Given the description of an element on the screen output the (x, y) to click on. 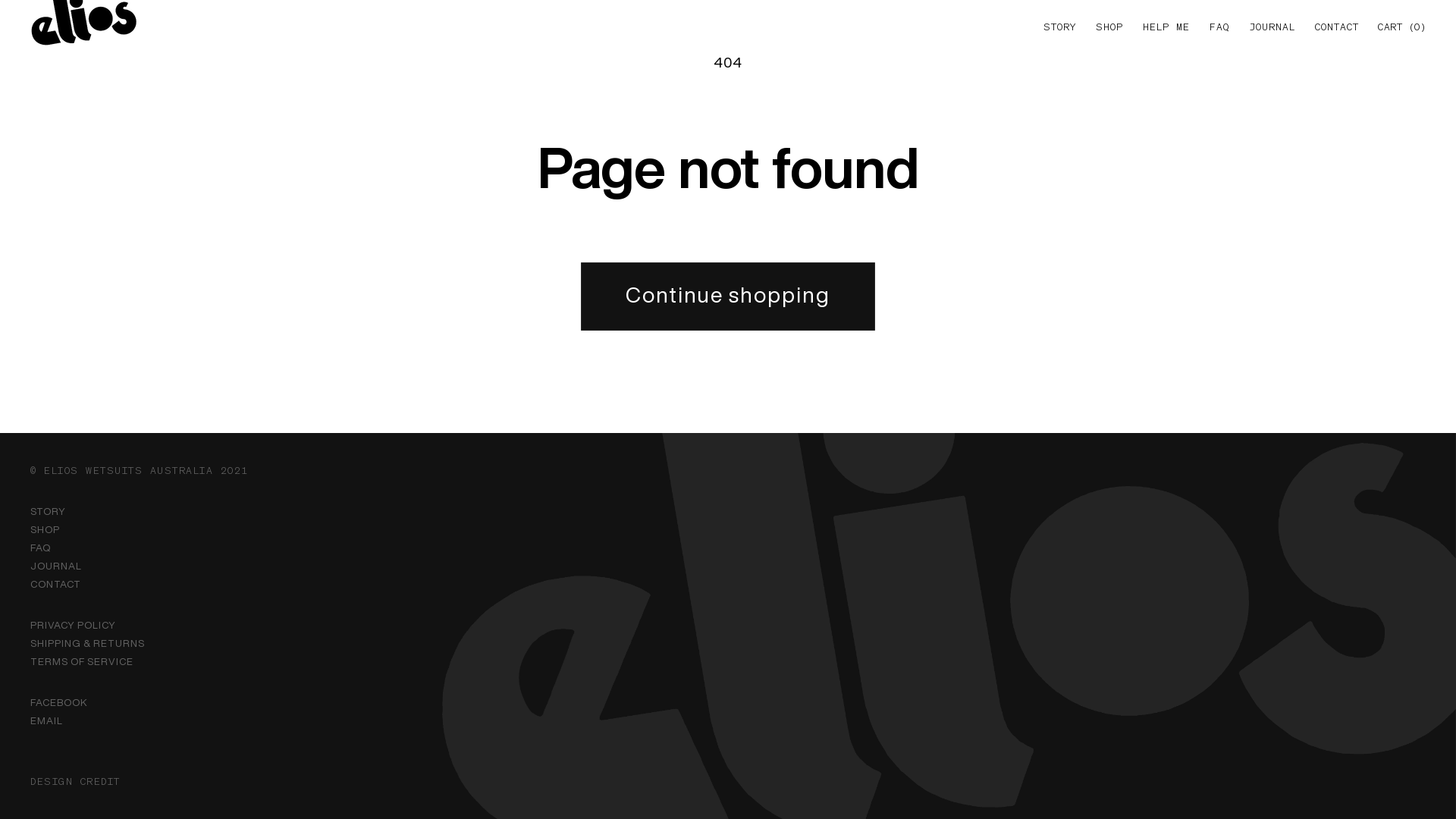
FACEBOOK Element type: text (58, 702)
CONTACT Element type: text (55, 584)
CART (0) Element type: text (1396, 26)
SHOP Element type: text (1109, 26)
FAQ Element type: text (1219, 26)
JOURNAL Element type: text (1271, 26)
CONTACT Element type: text (1336, 26)
TERMS OF SERVICE Element type: text (81, 661)
HELP ME Element type: text (1165, 26)
Continue shopping Element type: text (727, 296)
EMAIL Element type: text (46, 720)
SHIPPING & RETURNS Element type: text (87, 643)
SHOP Element type: text (44, 529)
FAQ Element type: text (40, 547)
STORY Element type: text (47, 511)
JOURNAL Element type: text (55, 566)
STORY Element type: text (1059, 26)
PRIVACY POLICY Element type: text (73, 625)
